Given the description of an element on the screen output the (x, y) to click on. 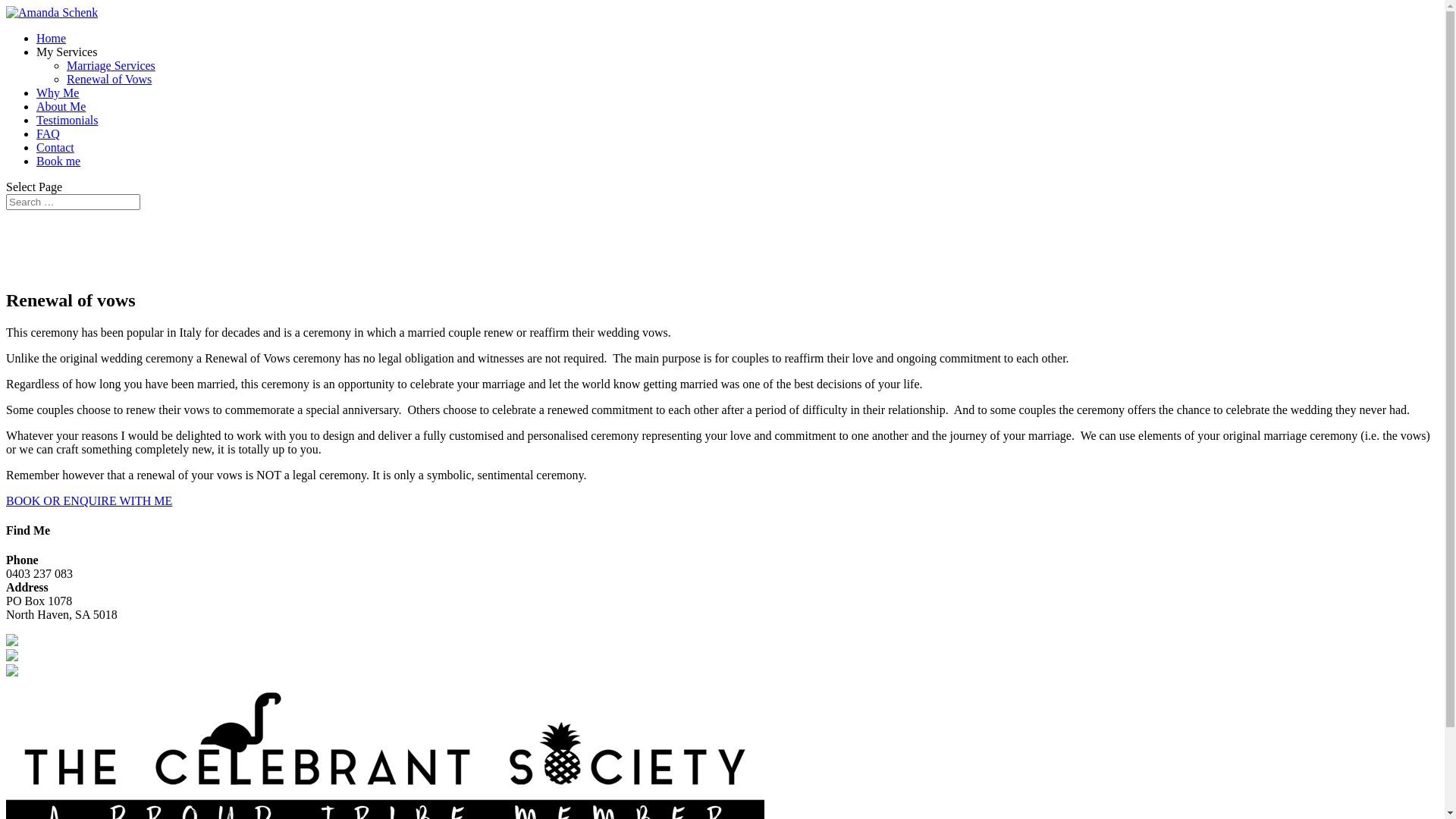
FAQ Element type: text (47, 133)
Book me Element type: text (58, 160)
Why Me Element type: text (57, 92)
Renewal of Vows Element type: text (108, 78)
Home Element type: text (50, 37)
About Me Element type: text (60, 106)
Marriage Services Element type: text (110, 65)
Testimonials Element type: text (67, 119)
Contact Element type: text (55, 147)
BOOK OR ENQUIRE WITH ME Element type: text (89, 500)
My Services Element type: text (66, 51)
Search for: Element type: hover (73, 202)
